Given the description of an element on the screen output the (x, y) to click on. 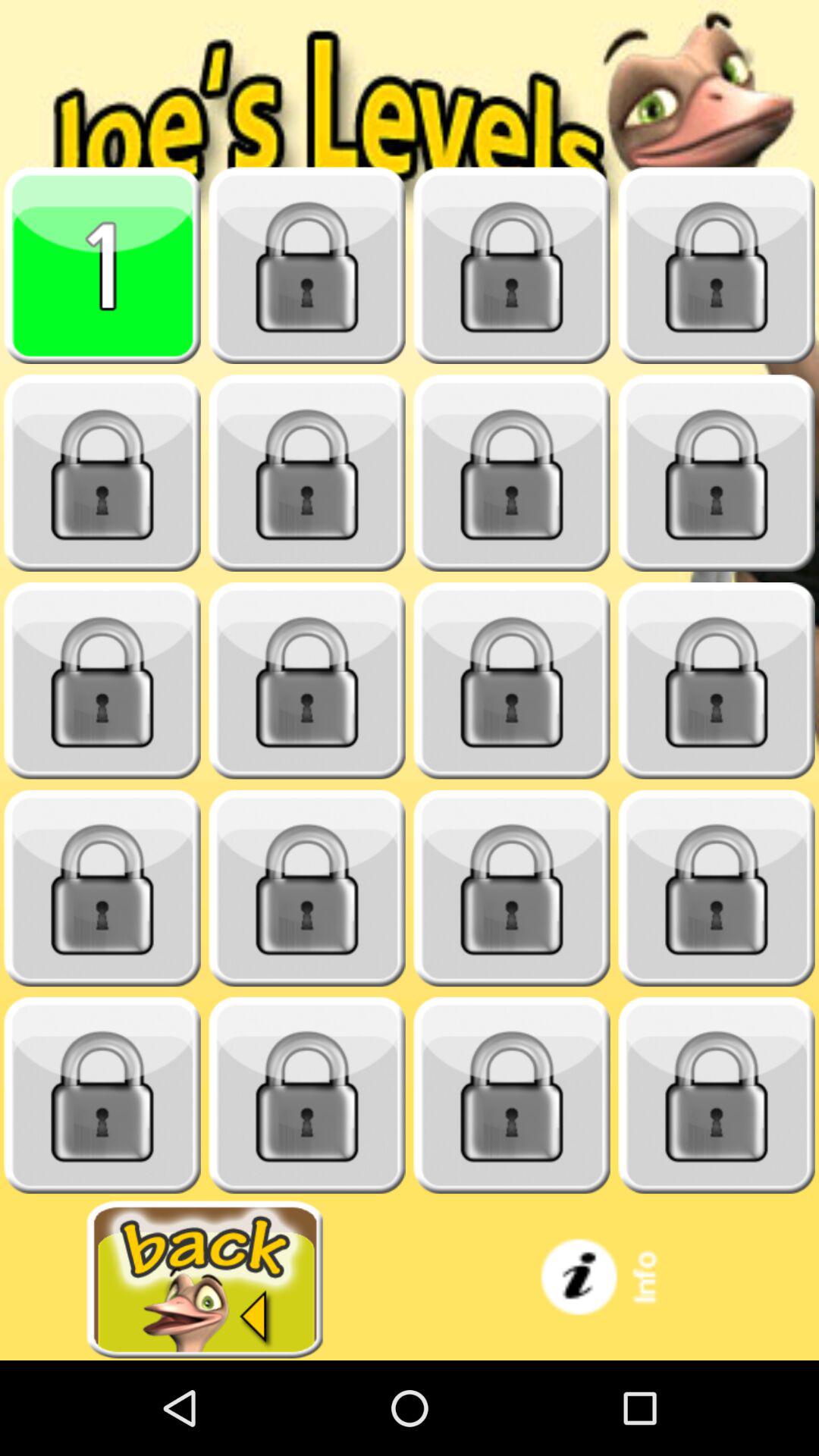
unlock level (306, 1094)
